Given the description of an element on the screen output the (x, y) to click on. 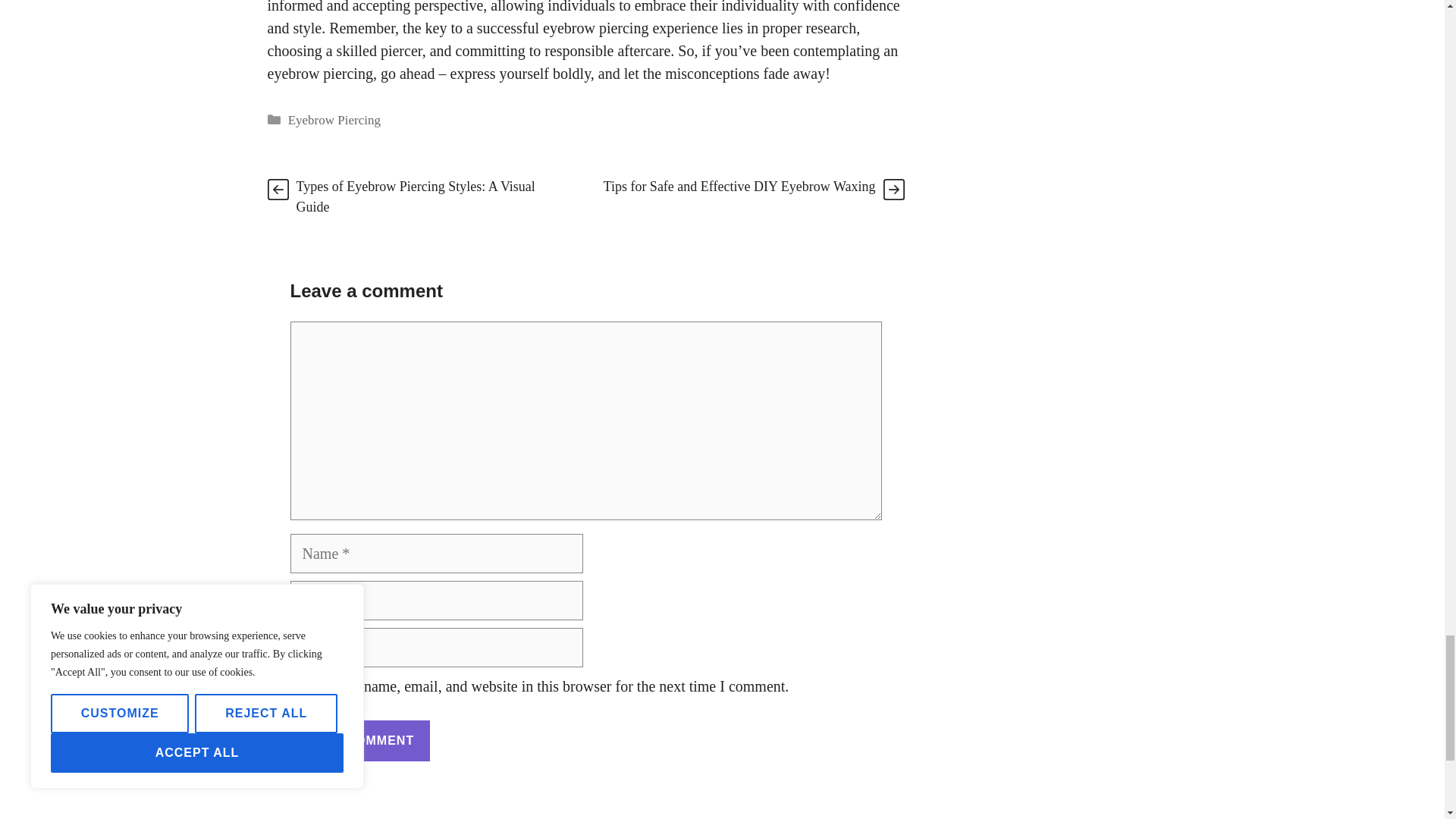
Eyebrow Piercing (334, 120)
Post Comment (359, 740)
yes (294, 685)
